Given the description of an element on the screen output the (x, y) to click on. 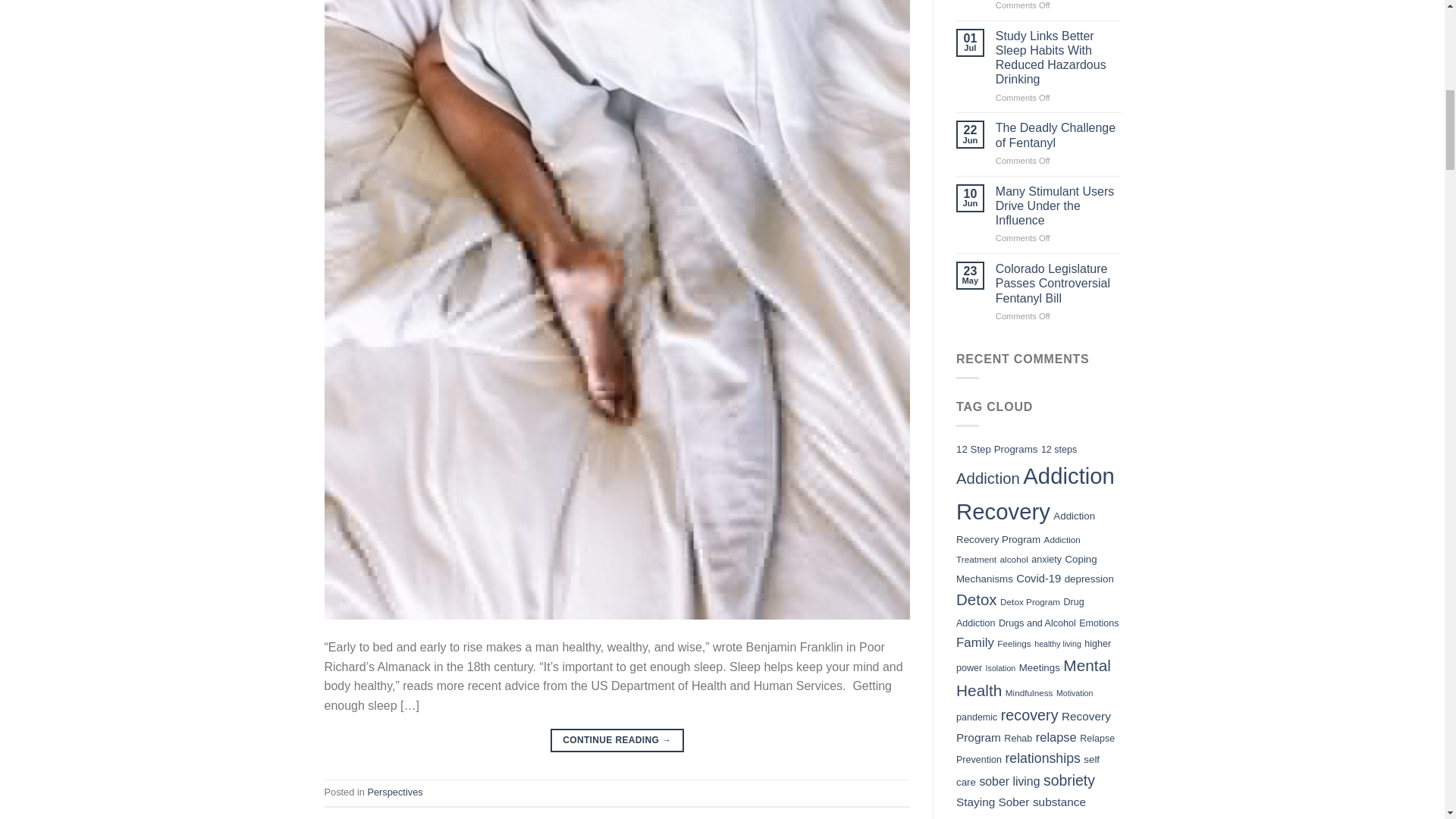
Many Stimulant Users Drive Under the Influence (1058, 206)
The Deadly Challenge of Fentanyl (1058, 134)
Colorado Legislature Passes Controversial Fentanyl Bill (1058, 283)
